Given the description of an element on the screen output the (x, y) to click on. 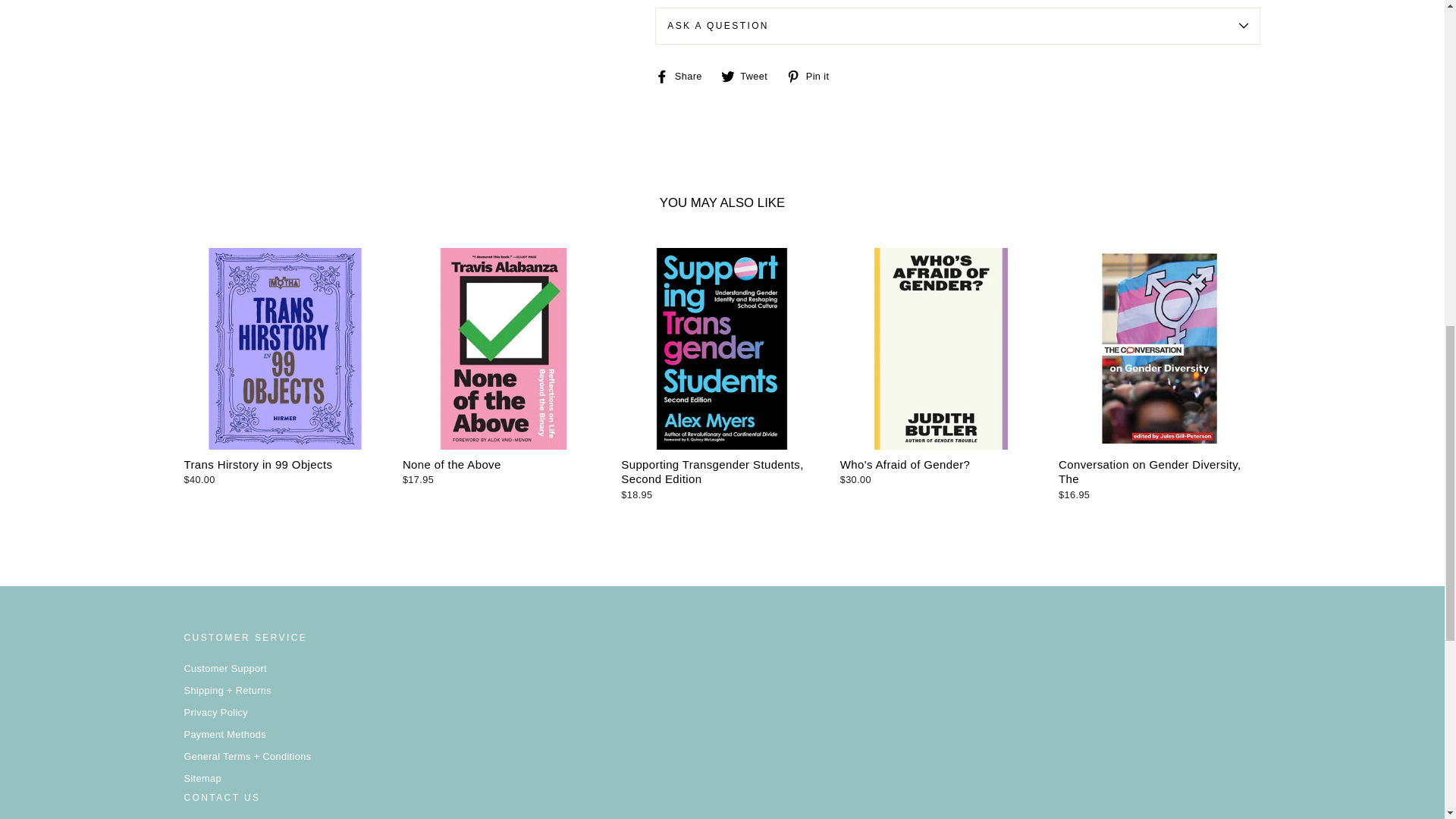
Share on Facebook (684, 75)
Tweet on Twitter (749, 75)
Pin on Pinterest (813, 75)
